Given the description of an element on the screen output the (x, y) to click on. 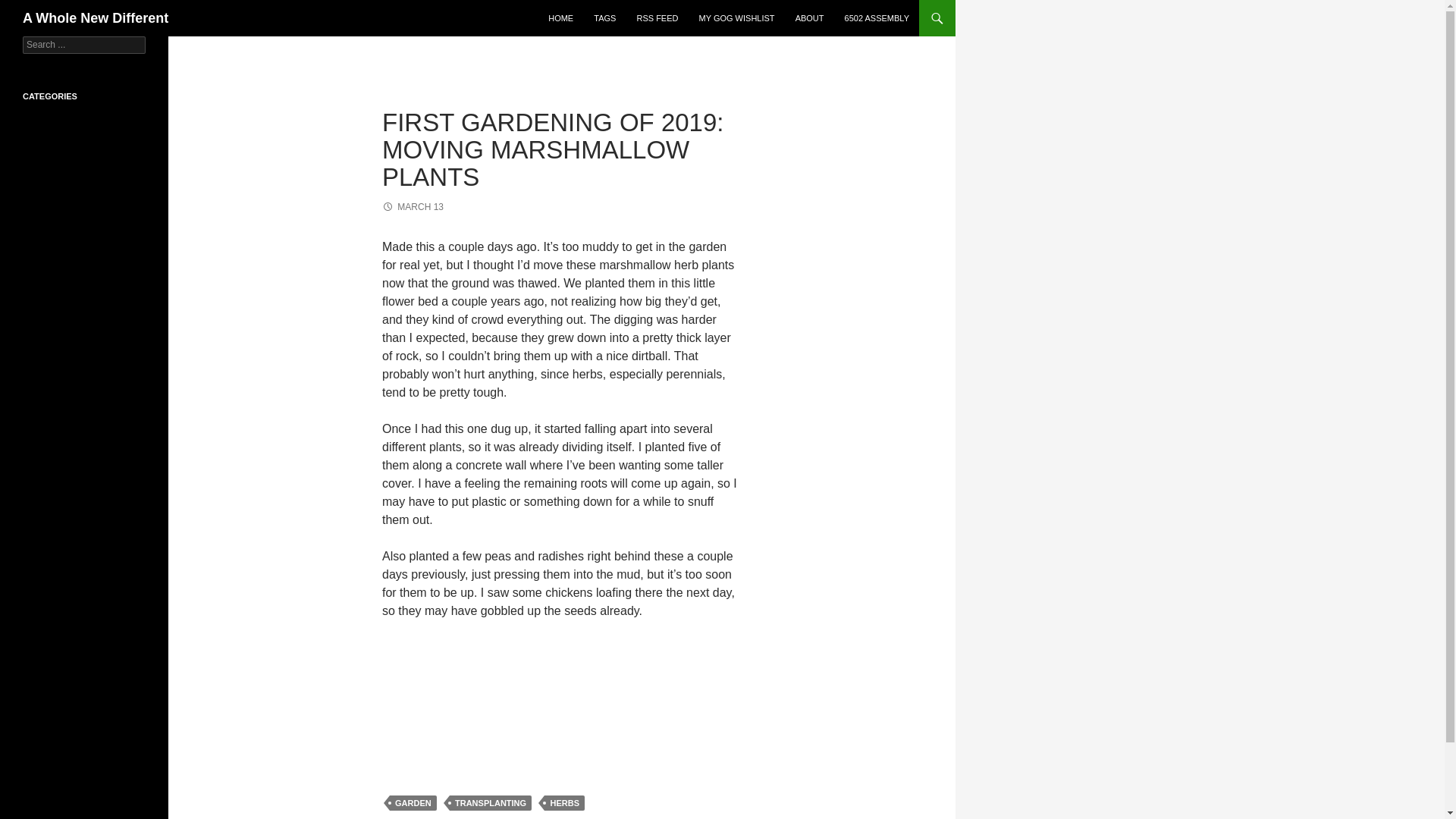
Search (23, 9)
MARCH 13 (412, 206)
6502 ASSEMBLY (876, 18)
RSS FEED (657, 18)
A Whole New Different (95, 18)
HERBS (564, 802)
TAGS (604, 18)
Search (30, 8)
GARDEN (413, 802)
TRANSPLANTING (490, 802)
ABOUT (809, 18)
SKIP TO CONTENT (584, 6)
MY GOG WISHLIST (737, 18)
HOME (560, 18)
